Given the description of an element on the screen output the (x, y) to click on. 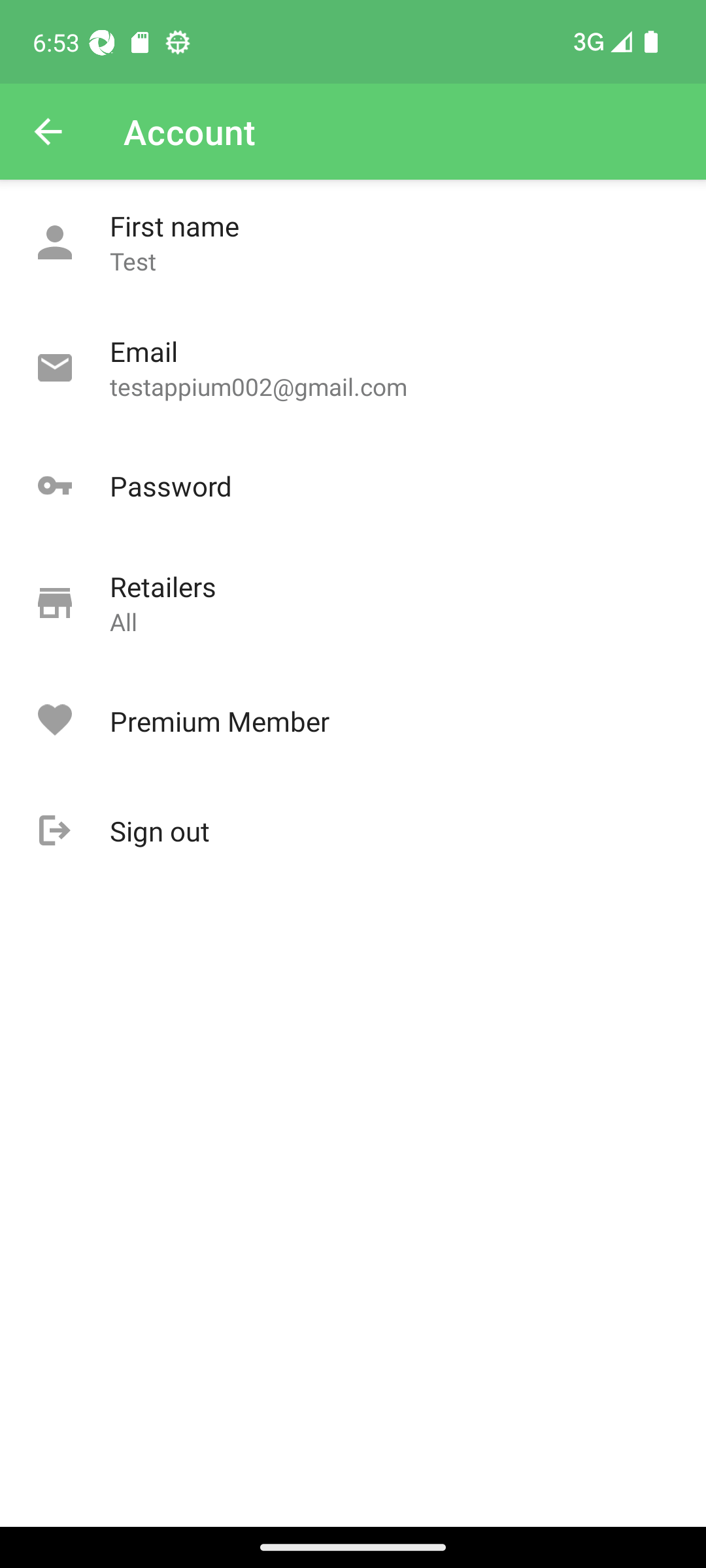
Navigate up (48, 131)
First name Test (353, 242)
Email testappium002@gmail.com (353, 368)
Password (353, 485)
Retailers All (353, 603)
Premium Member (353, 721)
Sign out (353, 830)
